Given the description of an element on the screen output the (x, y) to click on. 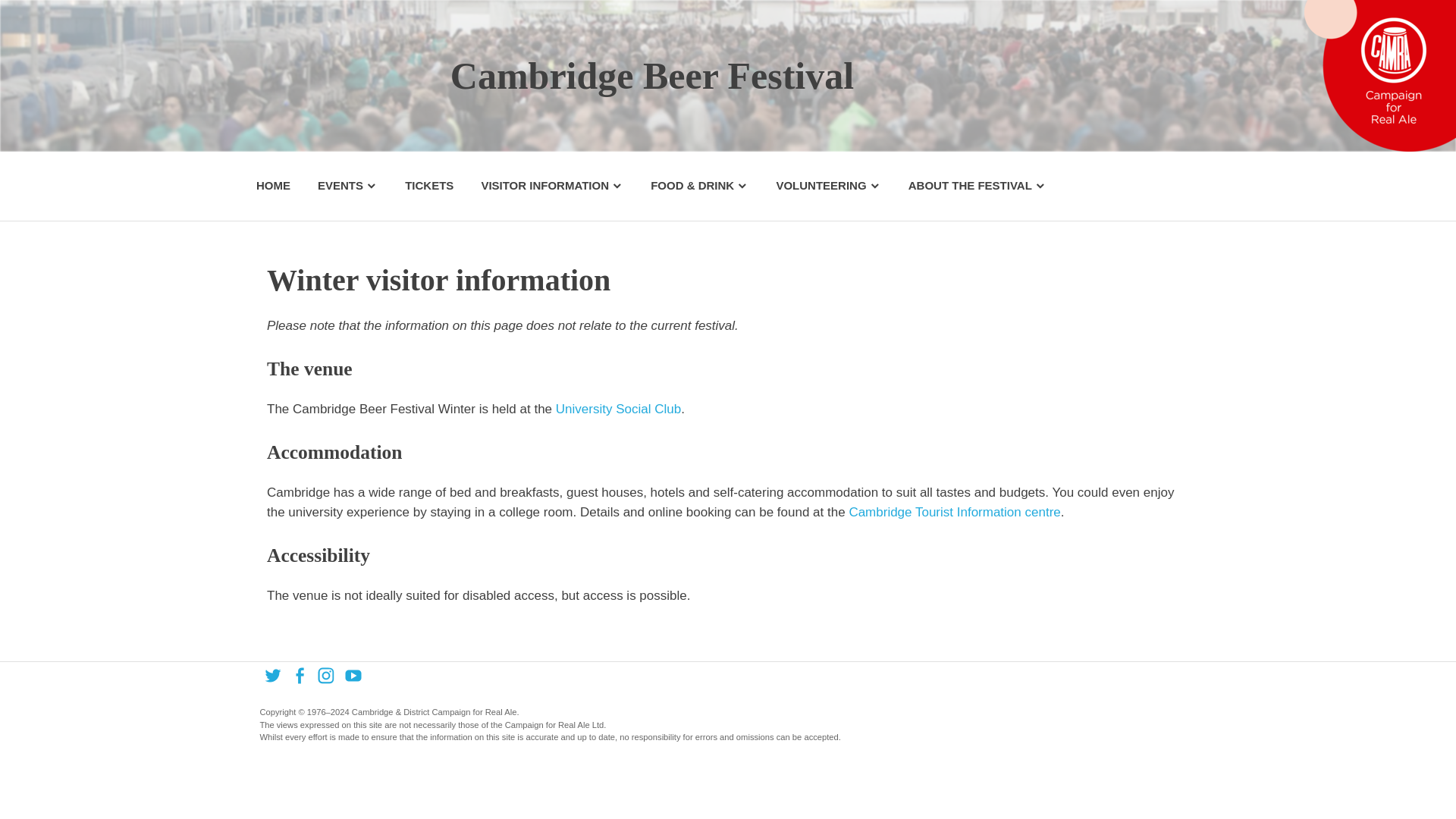
Cambridge Beer Festival (651, 75)
VOLUNTEERING (827, 185)
HOME (273, 185)
VISITOR INFORMATION (552, 185)
TICKETS (429, 185)
EVENTS (347, 185)
